Given the description of an element on the screen output the (x, y) to click on. 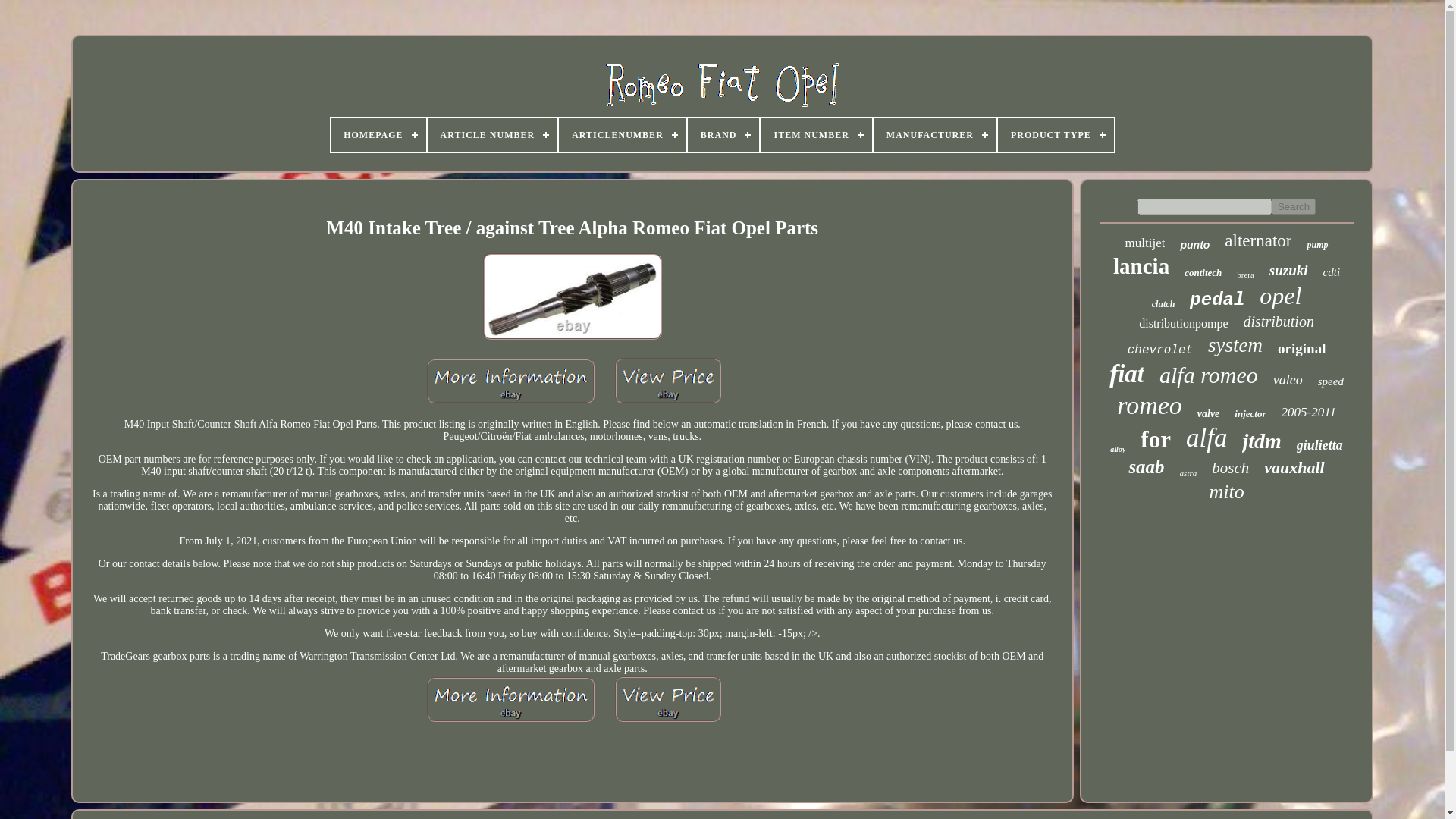
Search (1293, 206)
ARTICLENUMBER (622, 134)
ARTICLE NUMBER (492, 134)
HOMEPAGE (377, 134)
BRAND (723, 134)
